Given the description of an element on the screen output the (x, y) to click on. 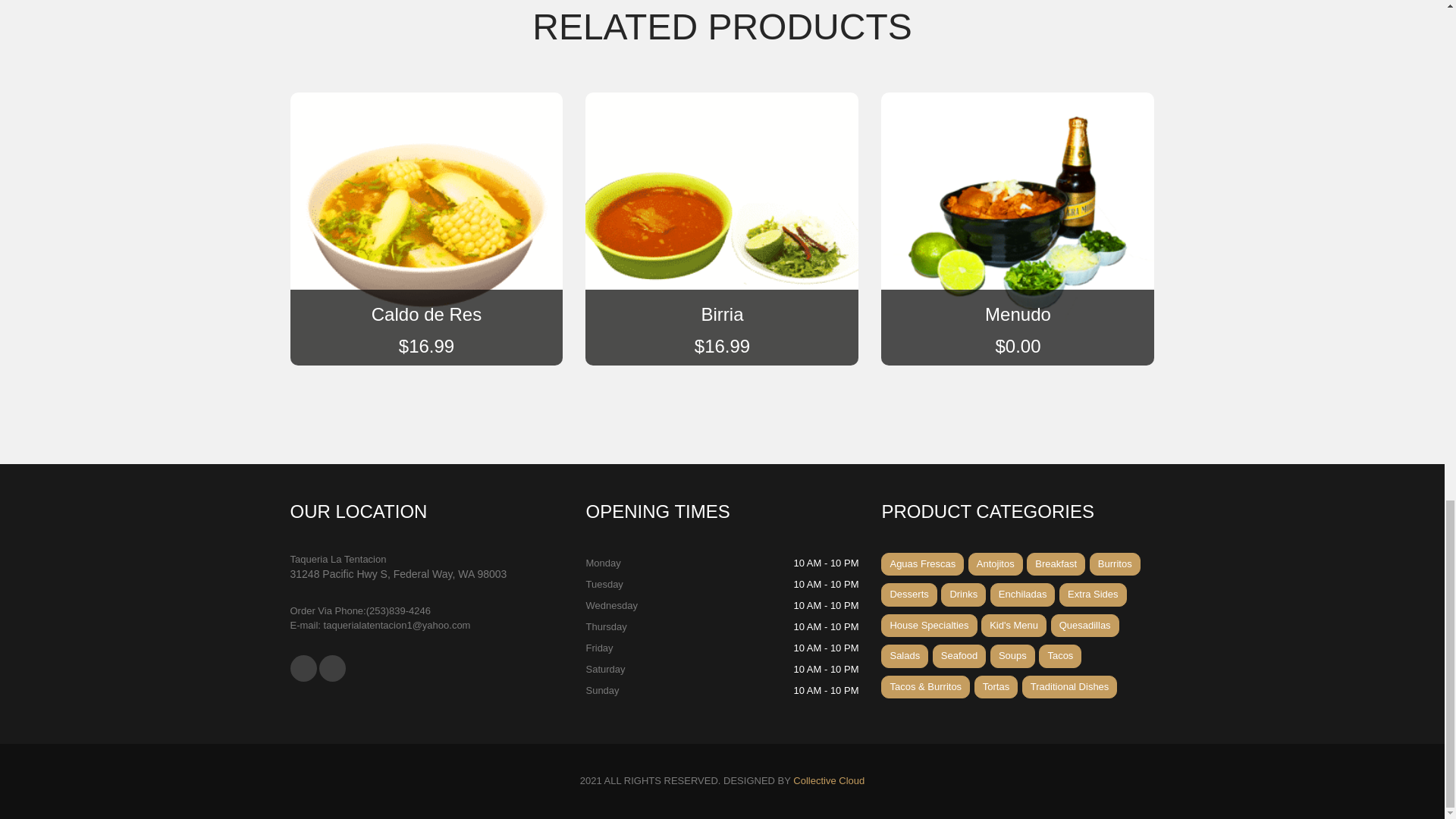
Birria (722, 314)
Menudo (1017, 314)
Caldo de Res (425, 314)
